Given the description of an element on the screen output the (x, y) to click on. 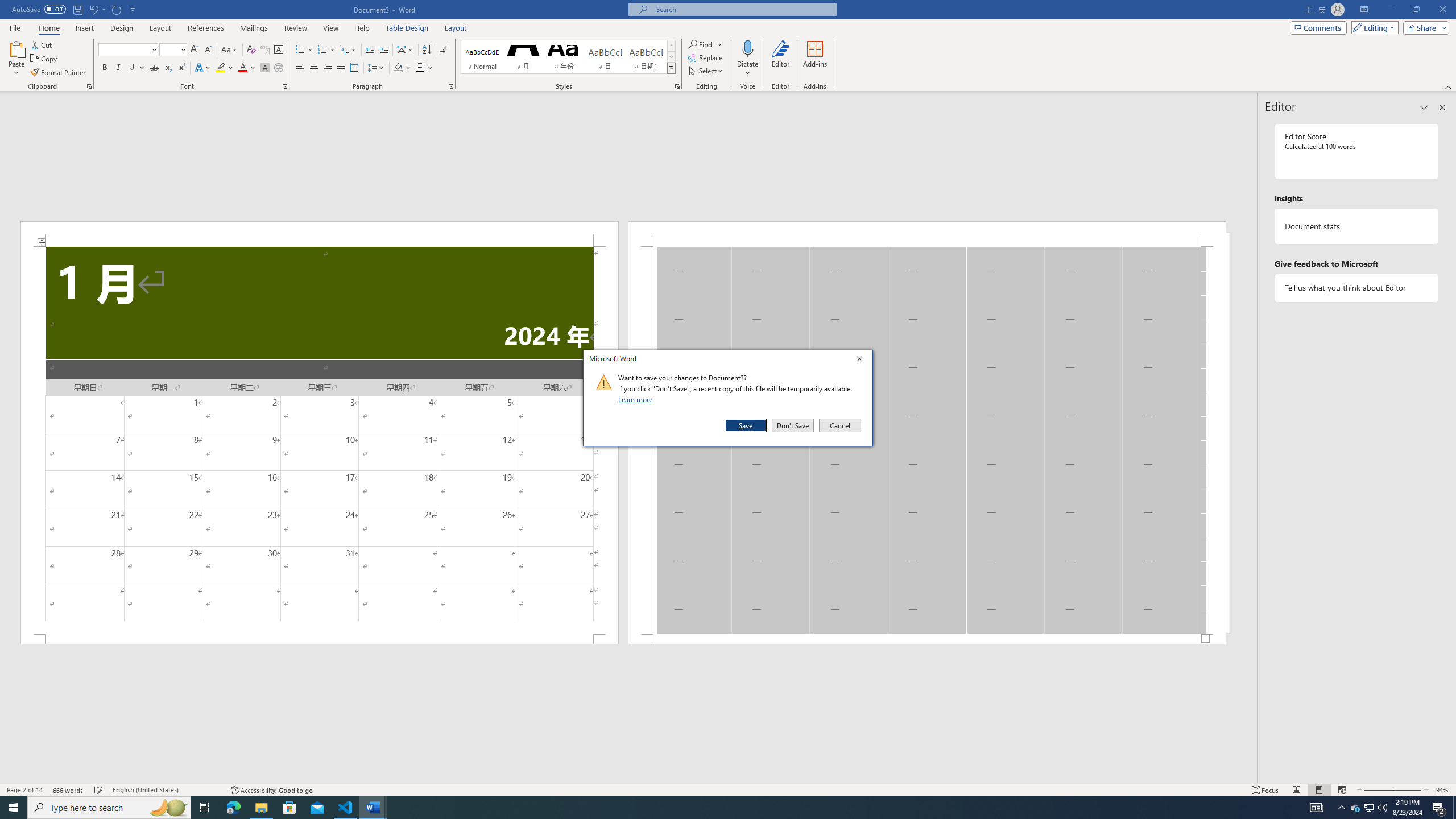
Word Count 666 words (68, 790)
Mode (1372, 27)
Class: NetUIScrollBar (628, 778)
Phonetic Guide... (264, 49)
Subscript (167, 67)
Styles (670, 67)
Shading (402, 67)
Running applications (717, 807)
Learn more (636, 399)
Line and Paragraph Spacing (376, 67)
